Given the description of an element on the screen output the (x, y) to click on. 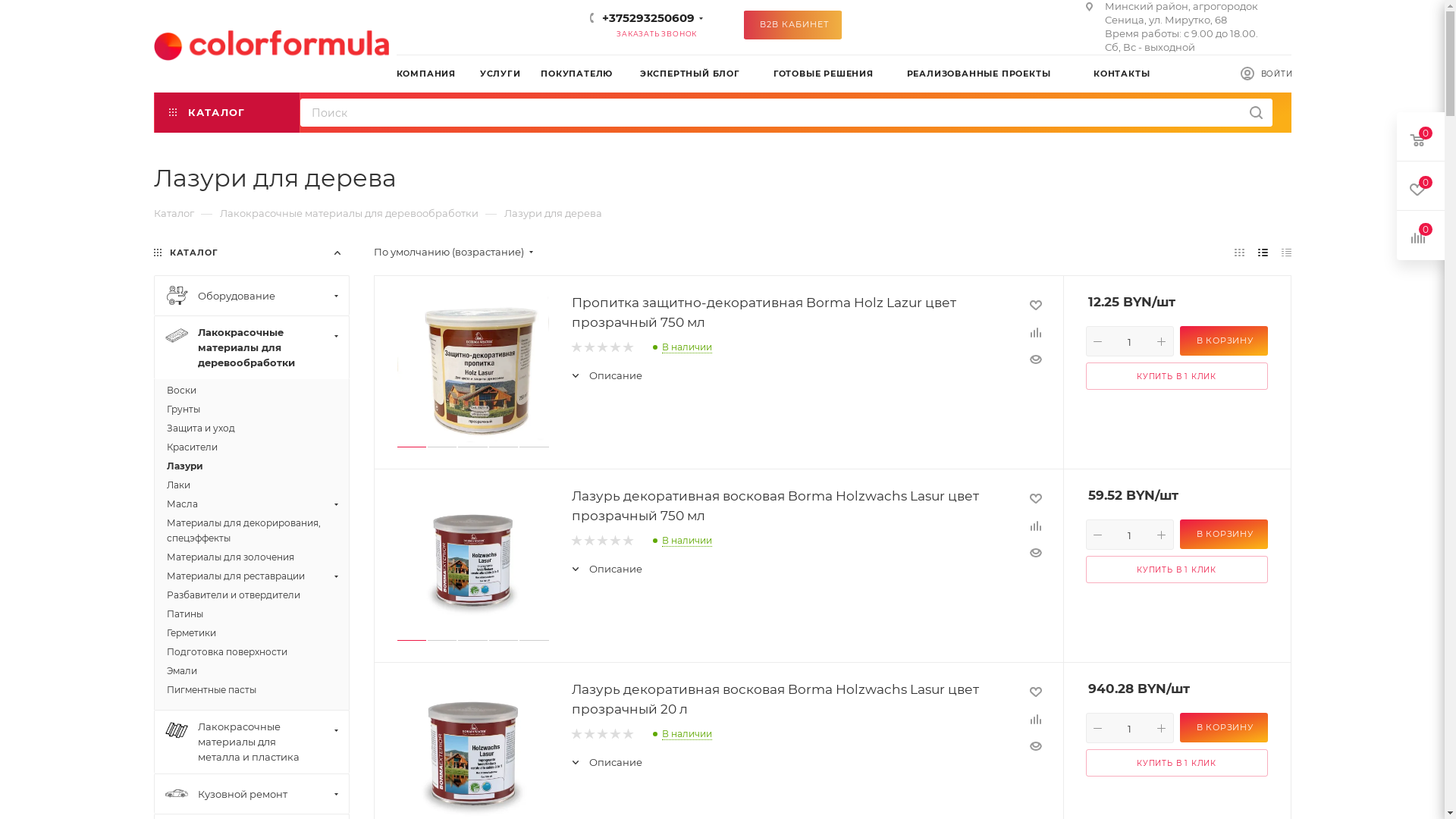
3611-holzswash-lazur-vosk-750ml-00-00002962 Element type: hover (473, 368)
colorformula.by Element type: hover (270, 45)
borma-holzwachs-lasur-3320_3x1 Element type: hover (472, 561)
+375293250609 Element type: text (648, 17)
Y Element type: text (4, 4)
